Given the description of an element on the screen output the (x, y) to click on. 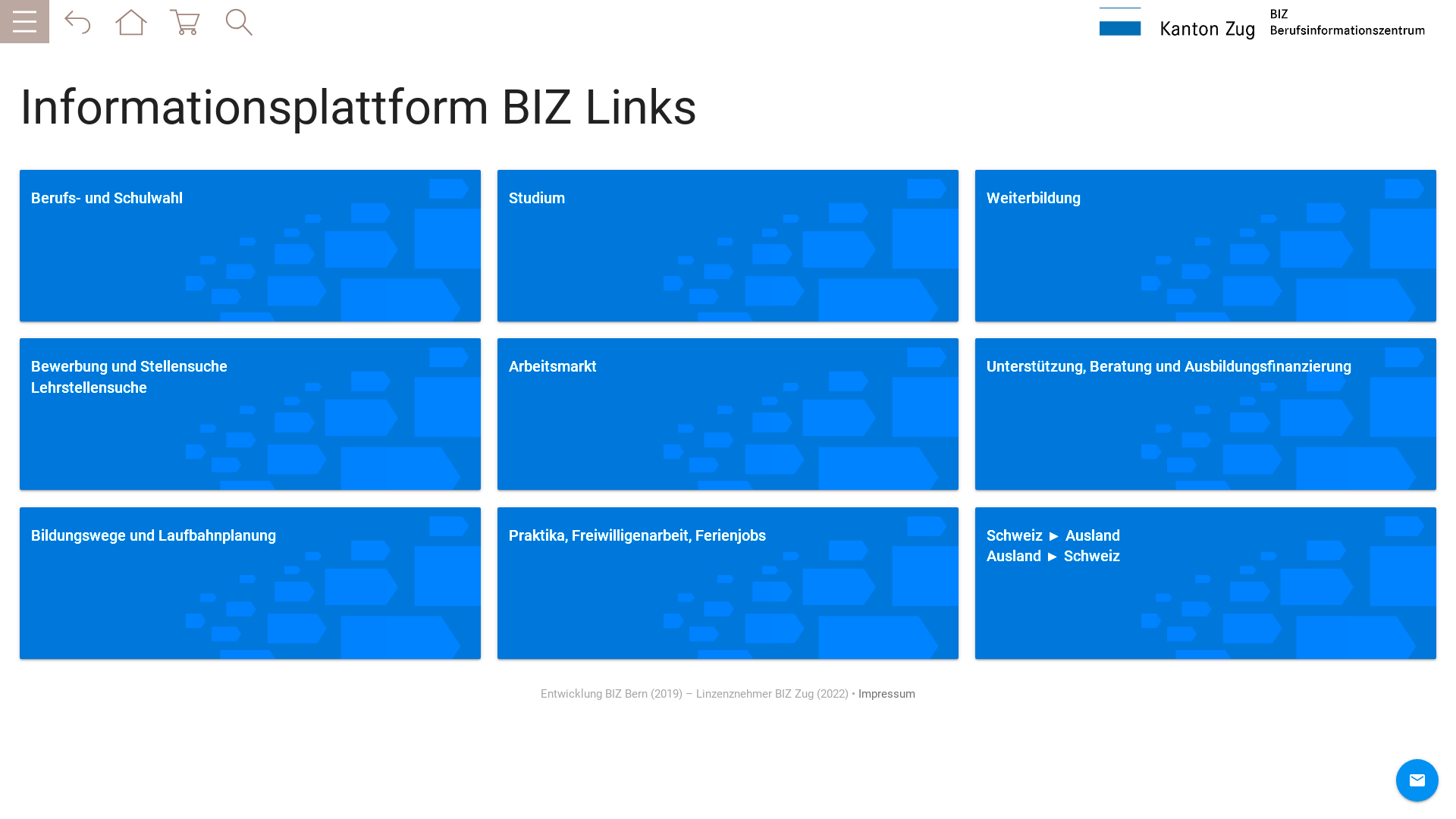
Praktika, Freiwilligenarbeit, Ferienjobs Element type: text (727, 582)
Berufs- und Schulwahl Element type: text (249, 245)
Bewerbung und Stellensuche
Lehrstellensuche Element type: text (249, 413)
Impressum Element type: text (886, 693)
Studium Element type: text (727, 245)
mail Element type: text (1417, 780)
